Given the description of an element on the screen output the (x, y) to click on. 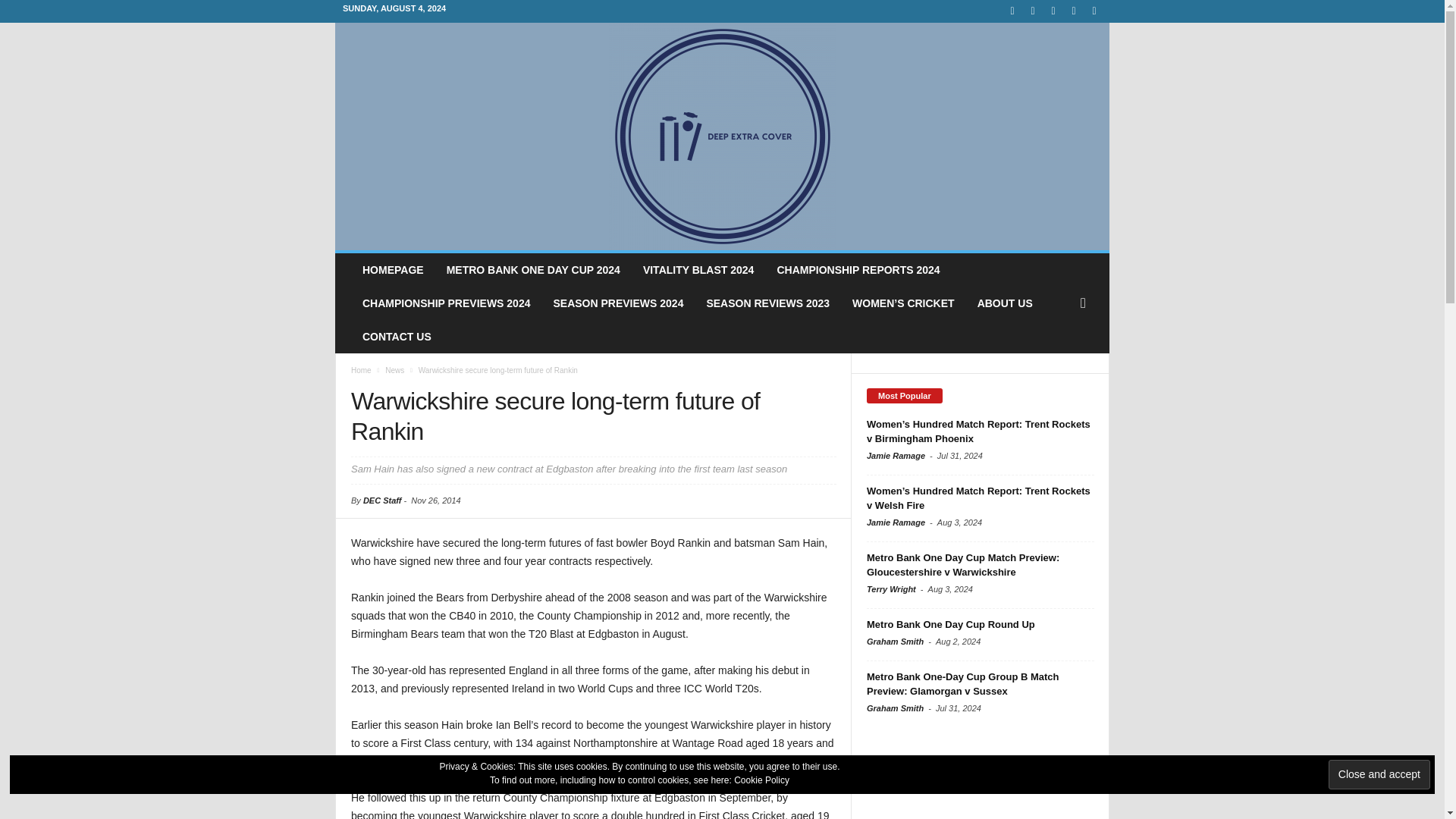
www.deepextracover.com (721, 136)
Instagram (1032, 10)
News (394, 370)
Mail (1052, 10)
Facebook (1012, 10)
DEC Staff (381, 500)
Rss (1073, 10)
CONTACT US (396, 336)
Close and accept (1378, 774)
VITALITY BLAST 2024 (698, 269)
METRO BANK ONE DAY CUP 2024 (533, 269)
Twitter (1093, 10)
HOMEPAGE (392, 269)
CHAMPIONSHIP PREVIEWS 2024 (445, 303)
Home (360, 370)
